Given the description of an element on the screen output the (x, y) to click on. 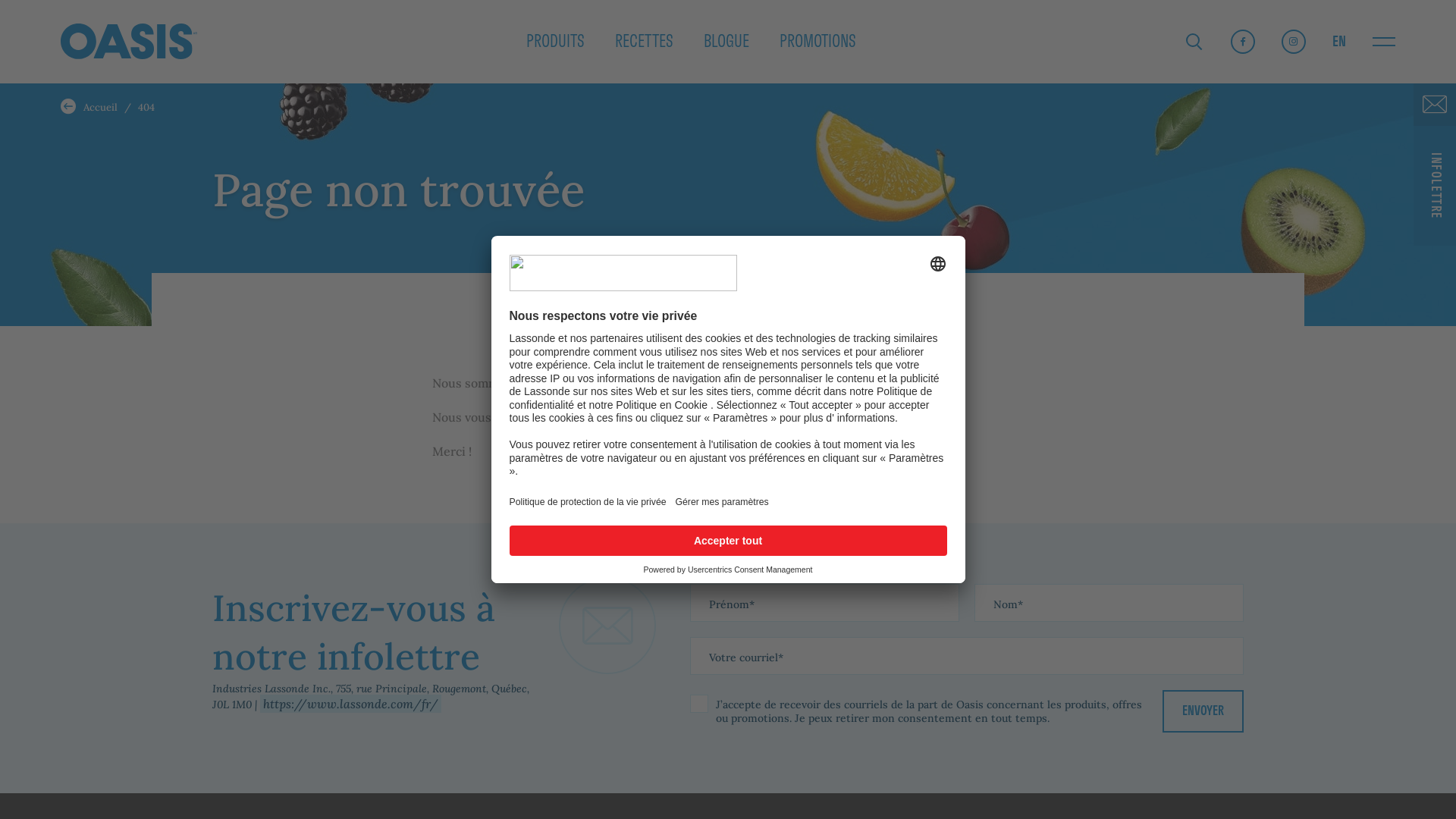
EN
VISITER LA PAGE EN : ENGLISH. Element type: text (1339, 41)
PRODUITS Element type: text (555, 40)
Facebook Element type: text (1242, 41)
Accueil Element type: text (100, 105)
Instagram Element type: text (1293, 41)
Accueil Element type: text (71, 105)
BLOGUE Element type: text (726, 40)
Ouvrir la barre de navigation Element type: text (1383, 41)
https://www.lassonde.com/fr/ Element type: text (350, 703)
Ouvrir ou fermer la barre de recherche Element type: text (1194, 41)
ENVOYER Element type: text (1202, 711)
page d'accueil Element type: text (723, 416)
